Given the description of an element on the screen output the (x, y) to click on. 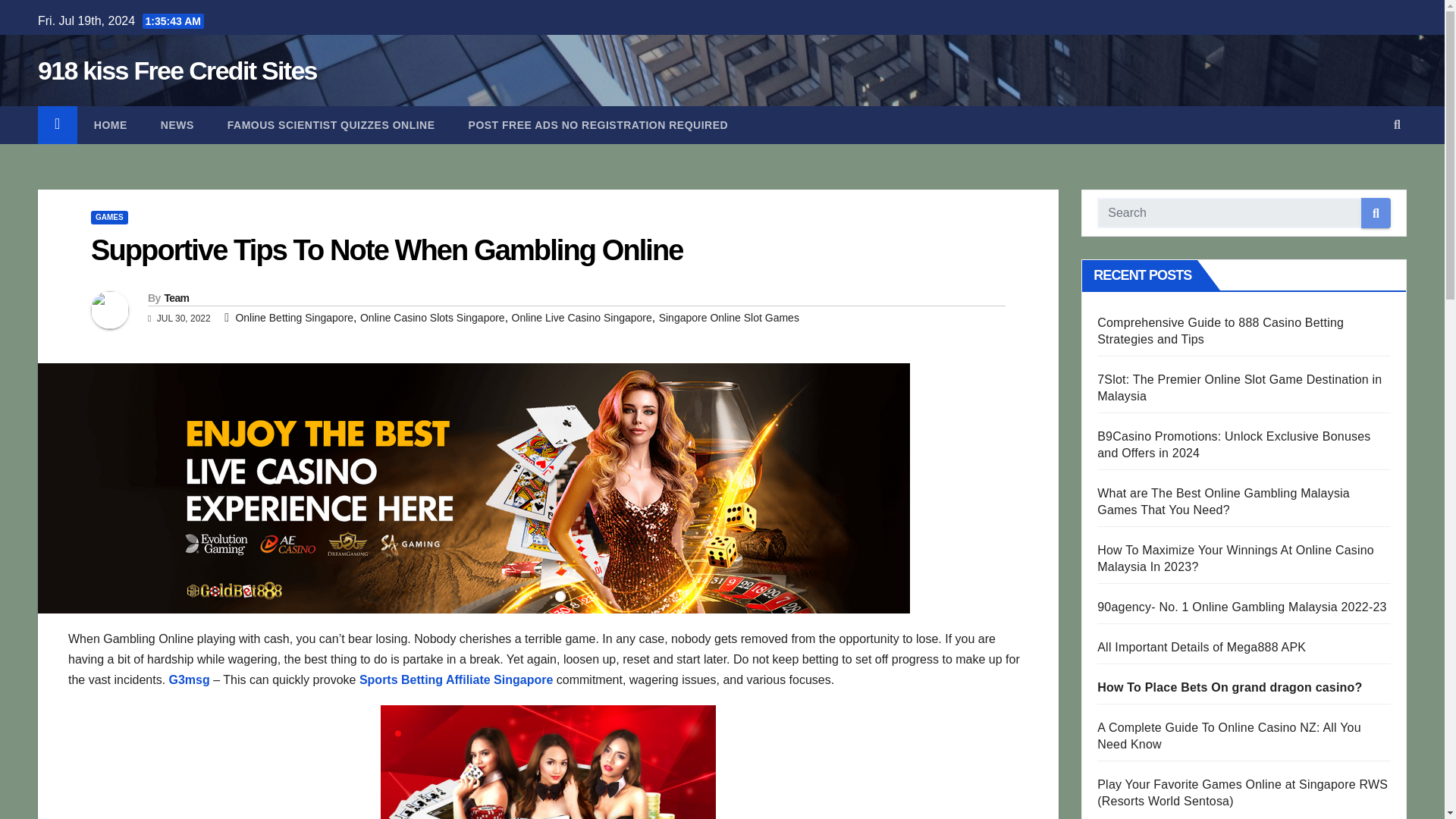
918 kiss Free Credit Sites (177, 70)
News (177, 125)
Supportive Tips To Note When Gambling Online (386, 250)
Online Live Casino Singapore (582, 317)
Famous Scientist Quizzes Online (331, 125)
Team (176, 297)
Online Casino Slots Singapore (432, 317)
POST FREE ADS NO REGISTRATION REQUIRED (598, 125)
HOME (110, 125)
GAMES (109, 217)
Home (110, 125)
Singapore Online Slot Games (729, 317)
Online Betting Singapore (293, 317)
G3msg (188, 679)
Sports Betting Affiliate Singapore (456, 679)
